Given the description of an element on the screen output the (x, y) to click on. 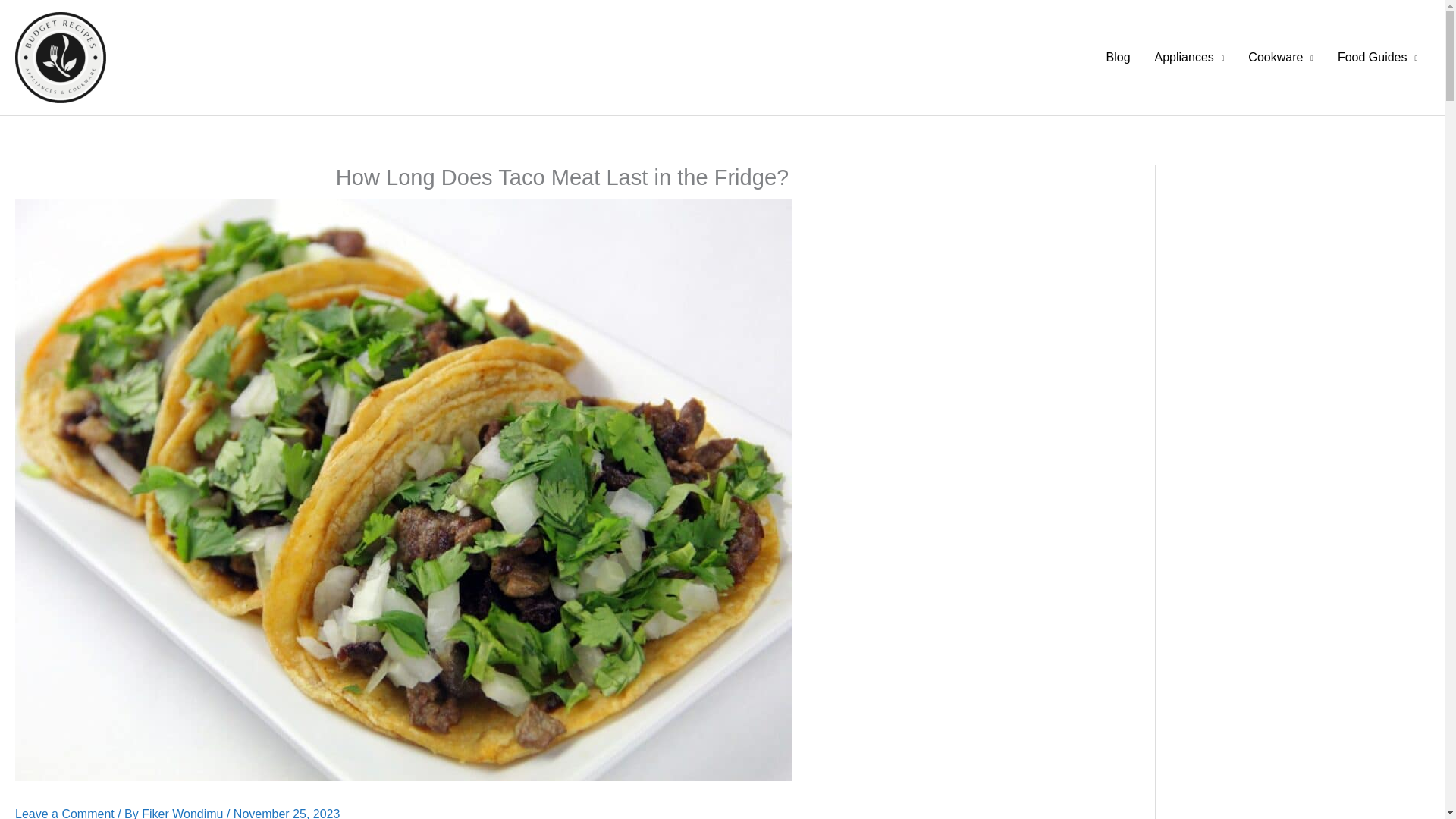
Food Guides (1376, 57)
View all posts by Fiker Wondimu (184, 813)
Blog (1117, 57)
Leave a Comment (64, 813)
Fiker Wondimu (184, 813)
Appliances (1189, 57)
Cookware (1280, 57)
